Given the description of an element on the screen output the (x, y) to click on. 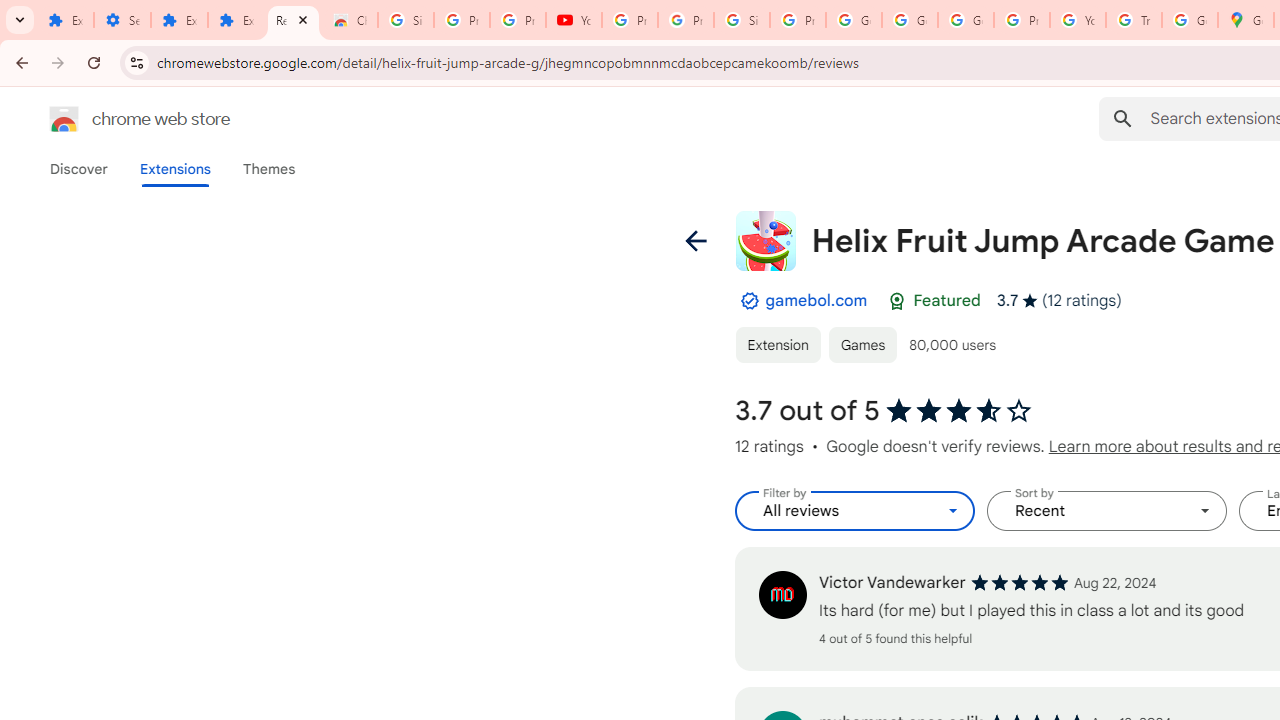
Discover (79, 169)
Themes (269, 169)
Item logo image for Helix Fruit Jump Arcade Game (765, 240)
Extensions (65, 20)
Extensions (174, 169)
Games (863, 344)
gamebol.com (816, 300)
Featured Badge (897, 301)
